Given the description of an element on the screen output the (x, y) to click on. 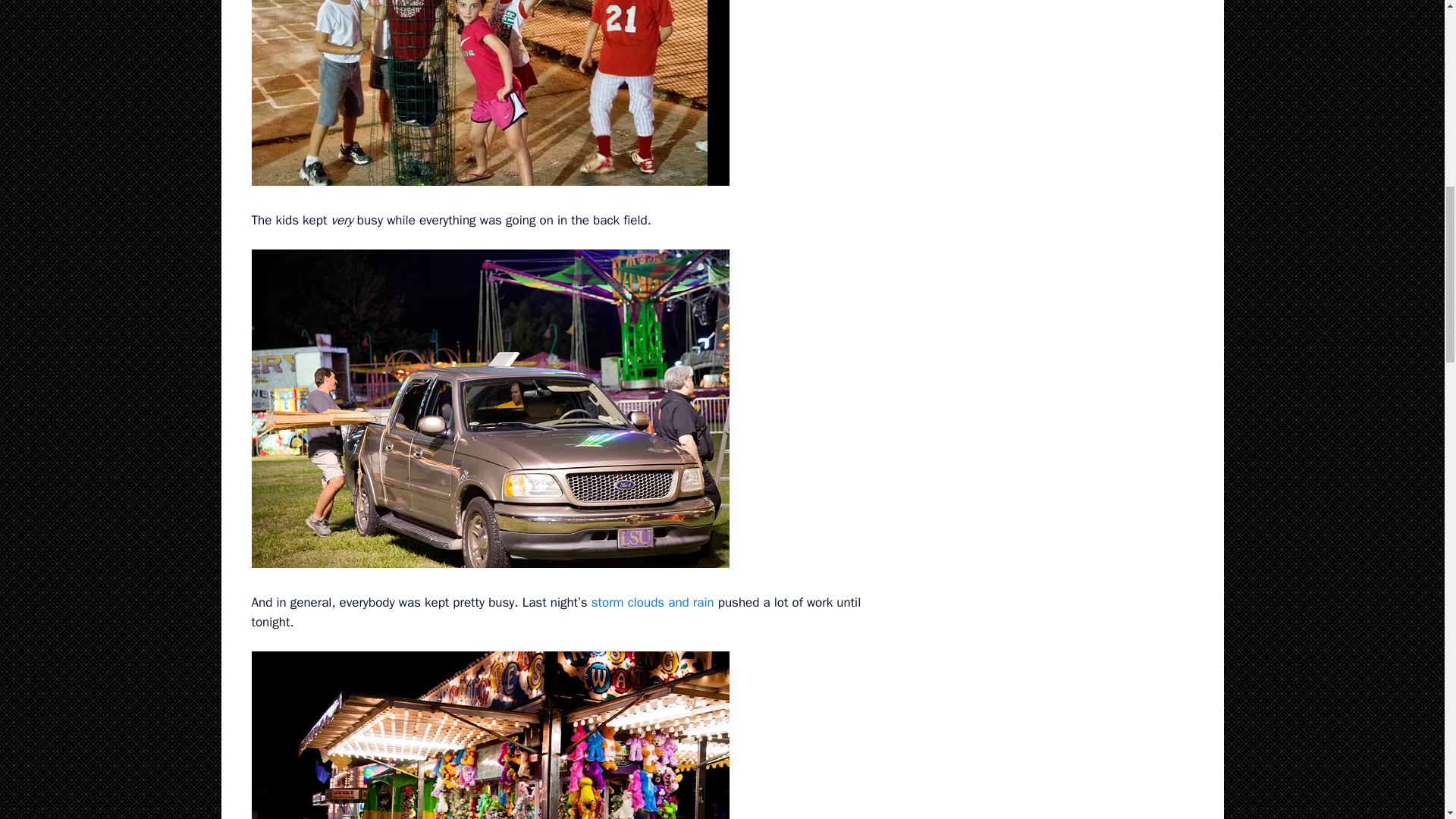
storm clouds and rain (652, 602)
